Given the description of an element on the screen output the (x, y) to click on. 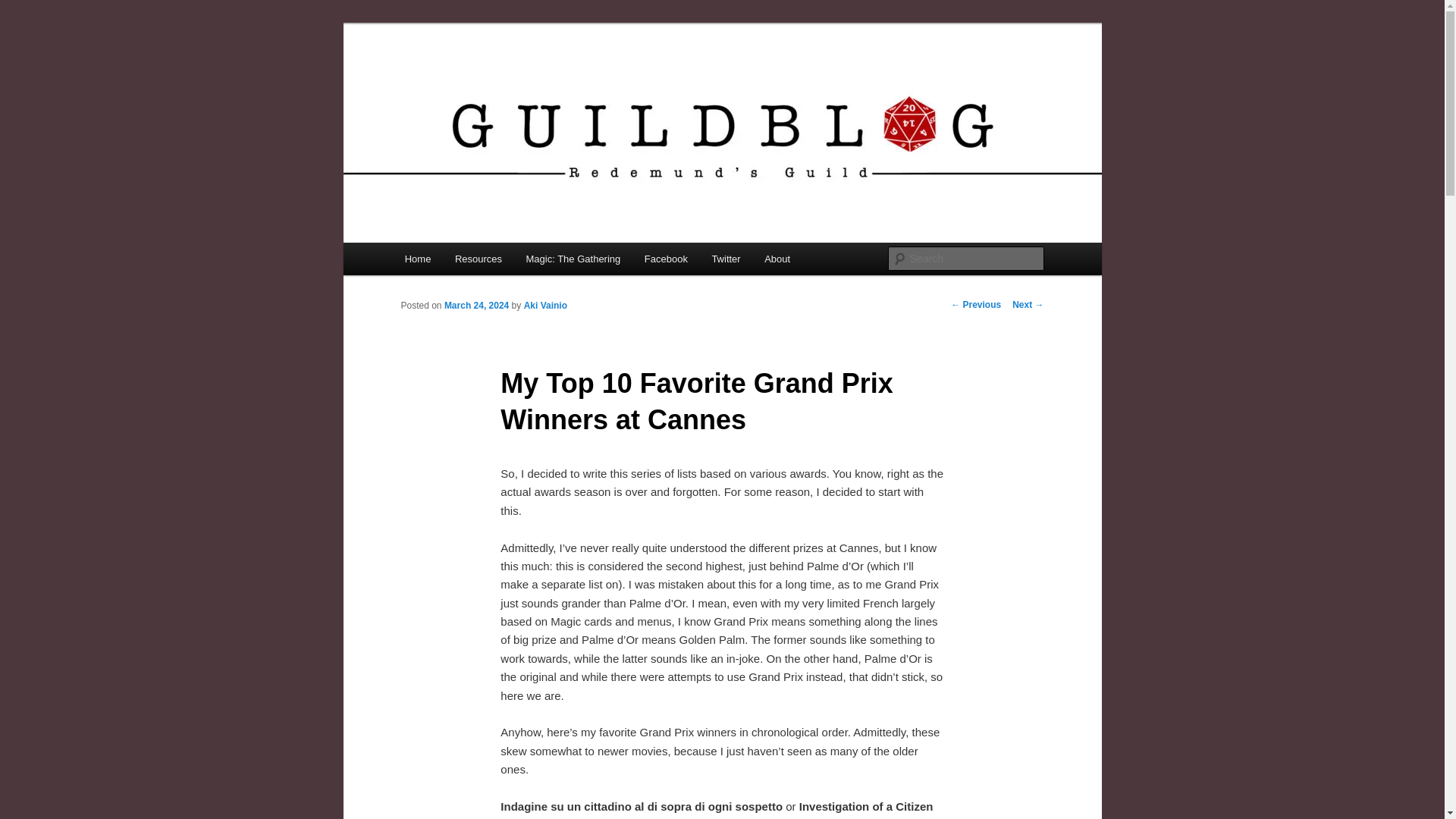
Guild Blog (457, 78)
View all posts by Aki Vainio (545, 305)
16:35 (476, 305)
Search (21, 11)
Aki Vainio (545, 305)
About (777, 258)
Resources (477, 258)
Search (24, 8)
Home (417, 258)
